Given the description of an element on the screen output the (x, y) to click on. 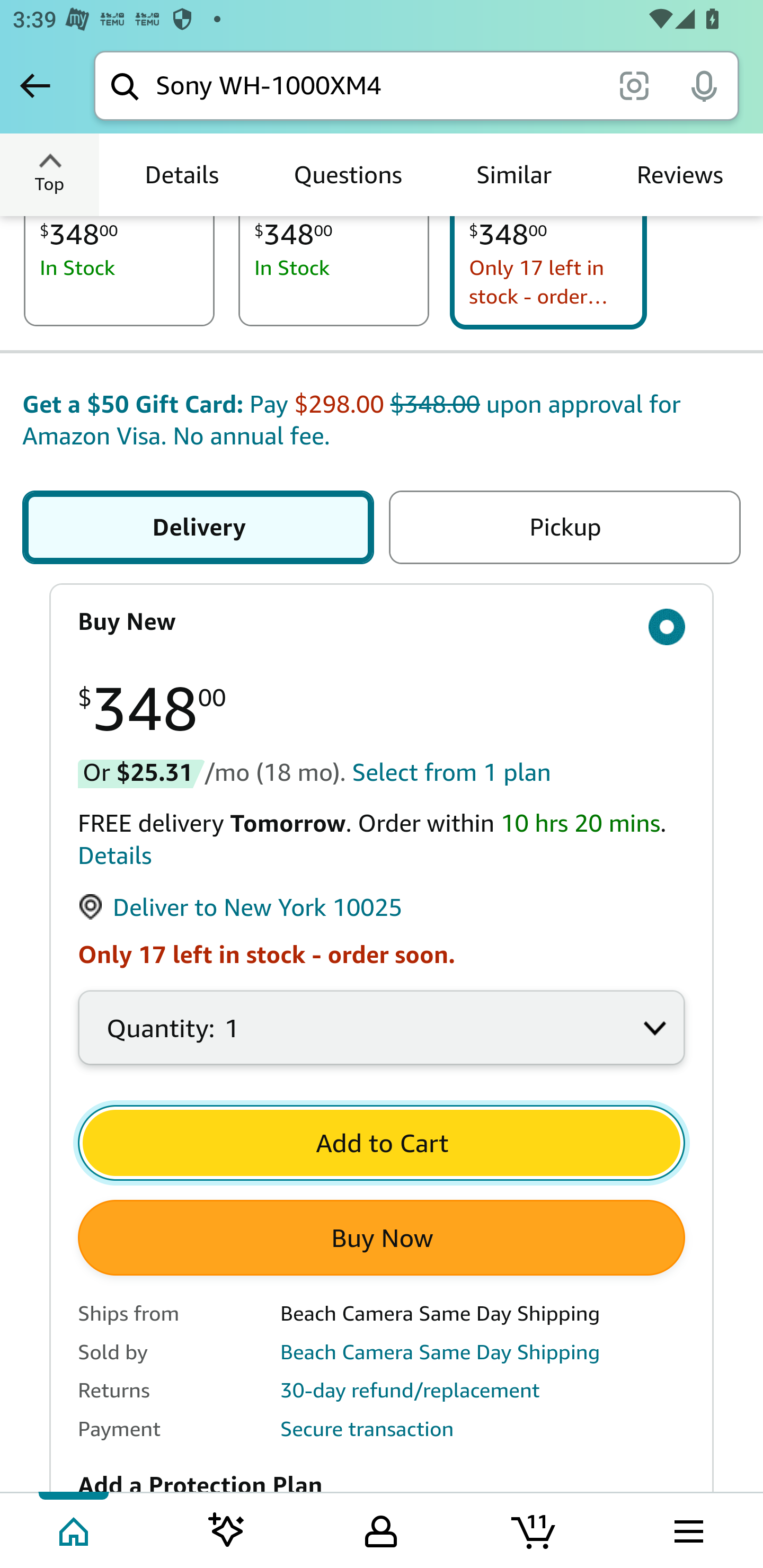
Back (35, 85)
scan it (633, 85)
Delivery (201, 528)
Pickup (560, 528)
Buy New (381, 622)
Select from 1 plan (450, 772)
Details (114, 855)
Deliver to New York 10025‌ (240, 907)
1 (381, 1037)
Add to Cart (381, 1142)
Buy Now (381, 1237)
Beach Camera Same Day Shipping (440, 1351)
Home Tab 1 of 5 (75, 1529)
Inspire feed Tab 2 of 5 (227, 1529)
Your Amazon.com Tab 3 of 5 (380, 1529)
Cart 11 items Tab 4 of 5 11 (534, 1529)
Browse menu Tab 5 of 5 (687, 1529)
